Given the description of an element on the screen output the (x, y) to click on. 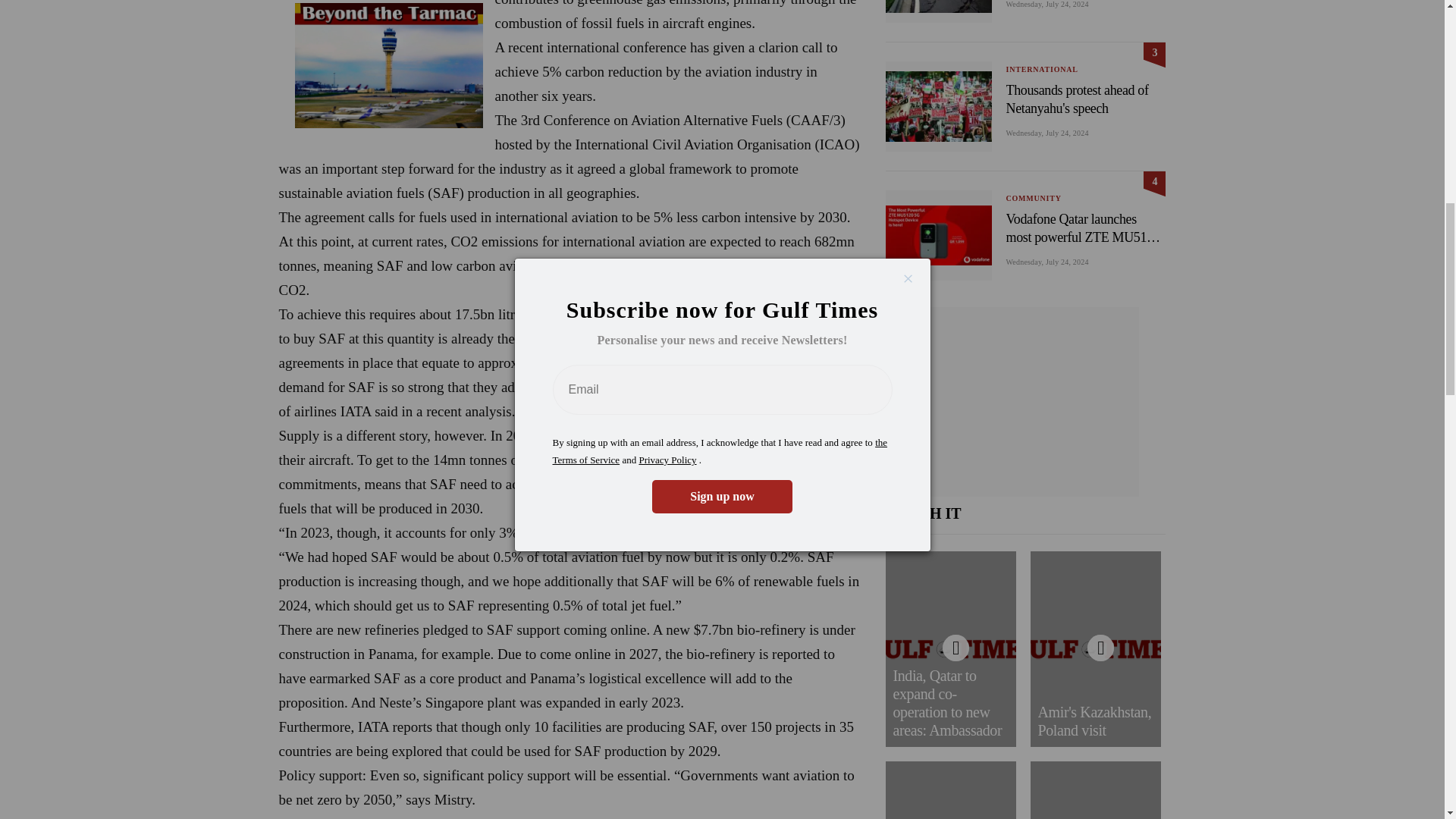
INTERNATIONAL (1041, 69)
